Given the description of an element on the screen output the (x, y) to click on. 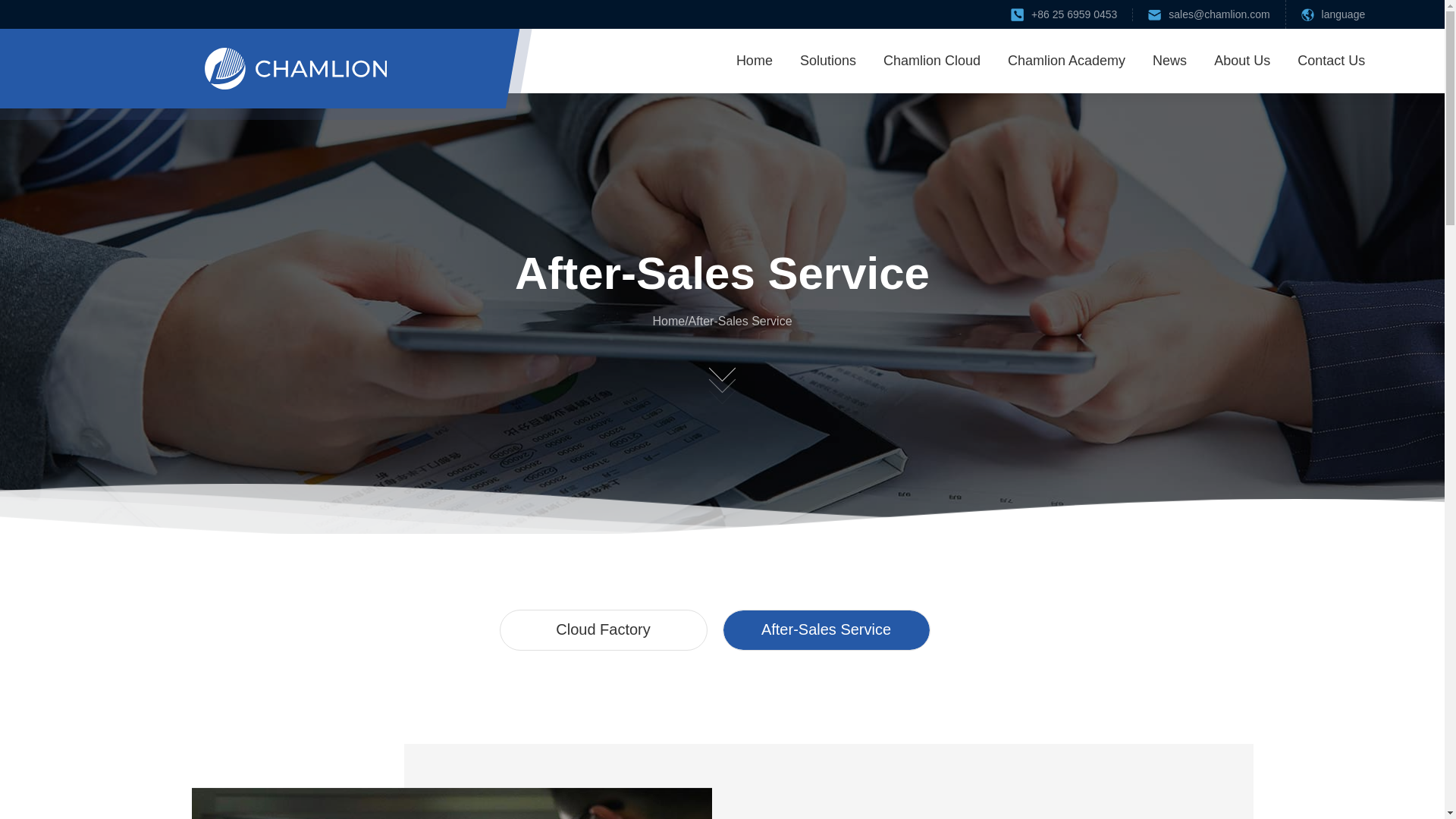
Contact Us (1331, 60)
Chamlion Cloud (931, 60)
Chamlion Academy (1066, 60)
